Given the description of an element on the screen output the (x, y) to click on. 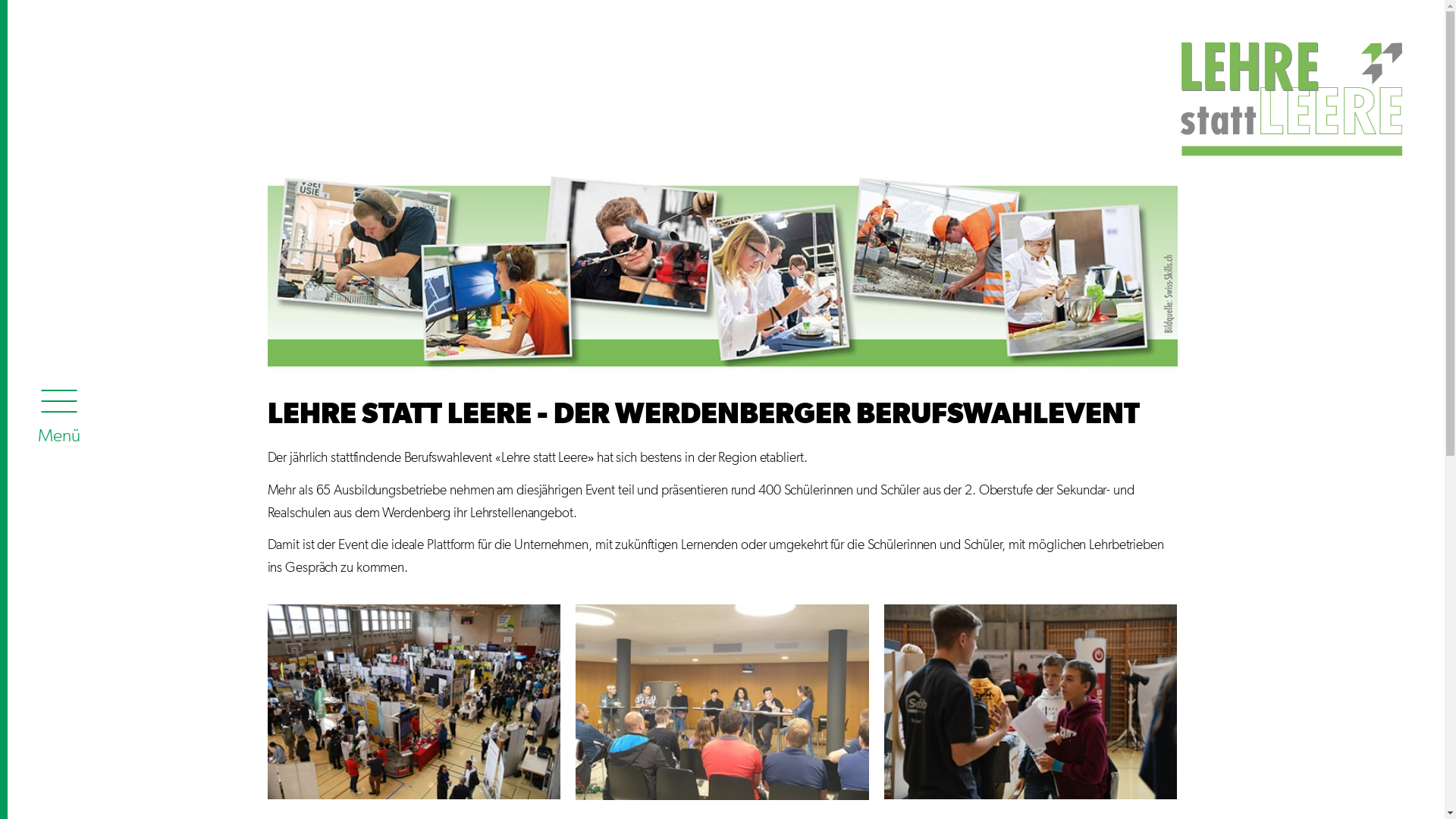
Menu Element type: hover (59, 412)
Bild Podium Element type: hover (722, 702)
Banner LsL Element type: hover (721, 275)
Arbeitgeberverband Sarganserland - Werdenberg Element type: hover (1184, 85)
Bild02_BWE_LsL_2022 Element type: hover (1030, 701)
BWE_LsL_2022_Bild_01 Element type: hover (413, 701)
